Given the description of an element on the screen output the (x, y) to click on. 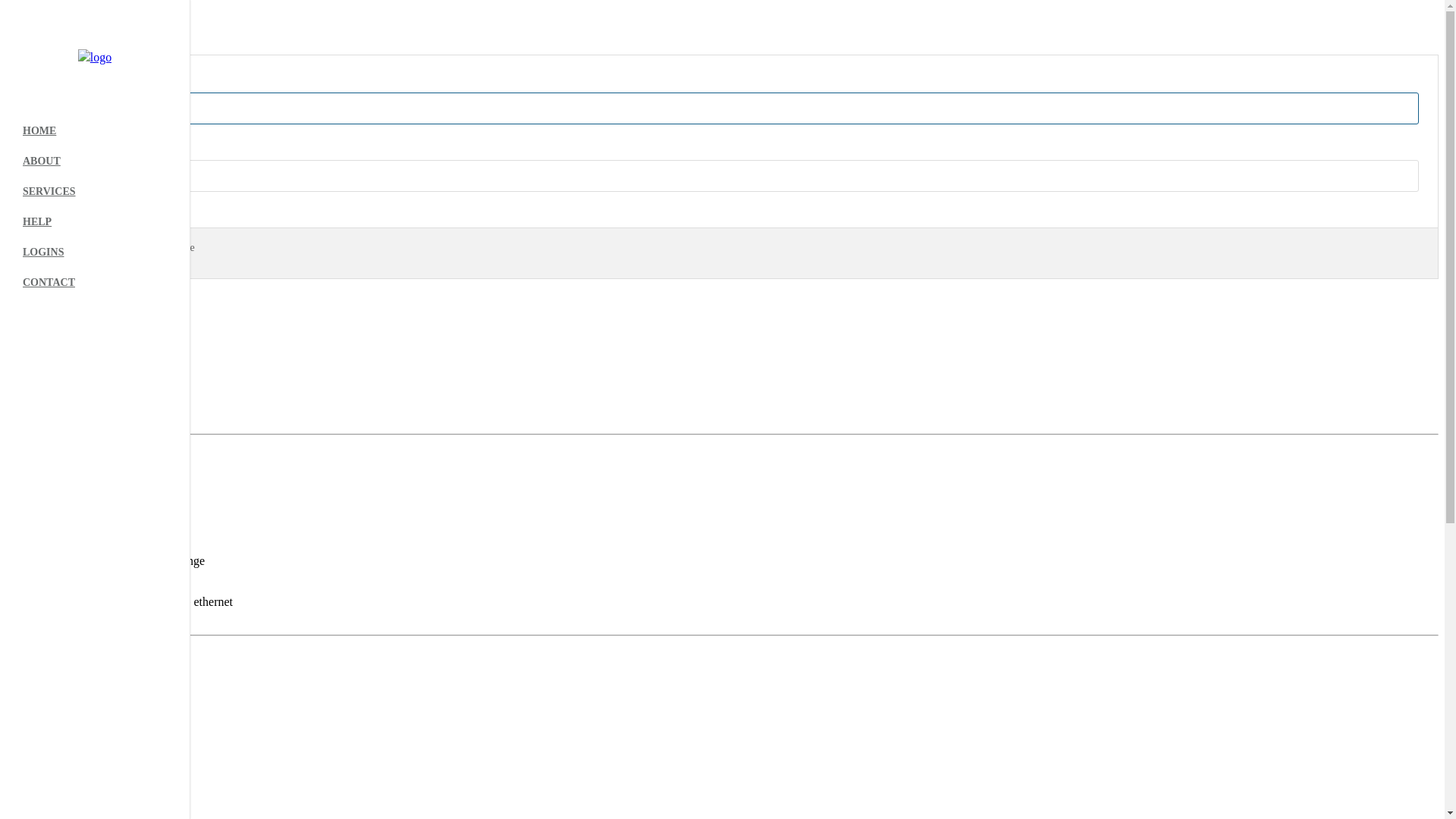
Forgot Password? Element type: text (49, 300)
CONTACT Element type: text (94, 282)
HELP Element type: text (94, 222)
Client Zone Element type: text (34, 486)
SERVICES Element type: text (94, 191)
Remote Help Element type: text (38, 386)
LOGINS Element type: text (94, 252)
ezyexchange Element type: text (37, 560)
Terms, Conditions & Policies Element type: text (77, 413)
ezycloud Logo Element type: hover (43, 47)
Reseller Zone Element type: text (39, 500)
Tutorials & Guides Element type: text (52, 359)
ezytel Element type: text (20, 573)
Support Requests Element type: text (48, 373)
ABOUT Element type: text (94, 161)
Sign In Element type: text (47, 252)
Network Status Element type: text (43, 400)
Return to Dashboard Element type: hover (43, 47)
HOME Element type: text (94, 131)
ezycloudsms Element type: text (37, 587)
ezybroadband Element type: text (40, 601)
